Given the description of an element on the screen output the (x, y) to click on. 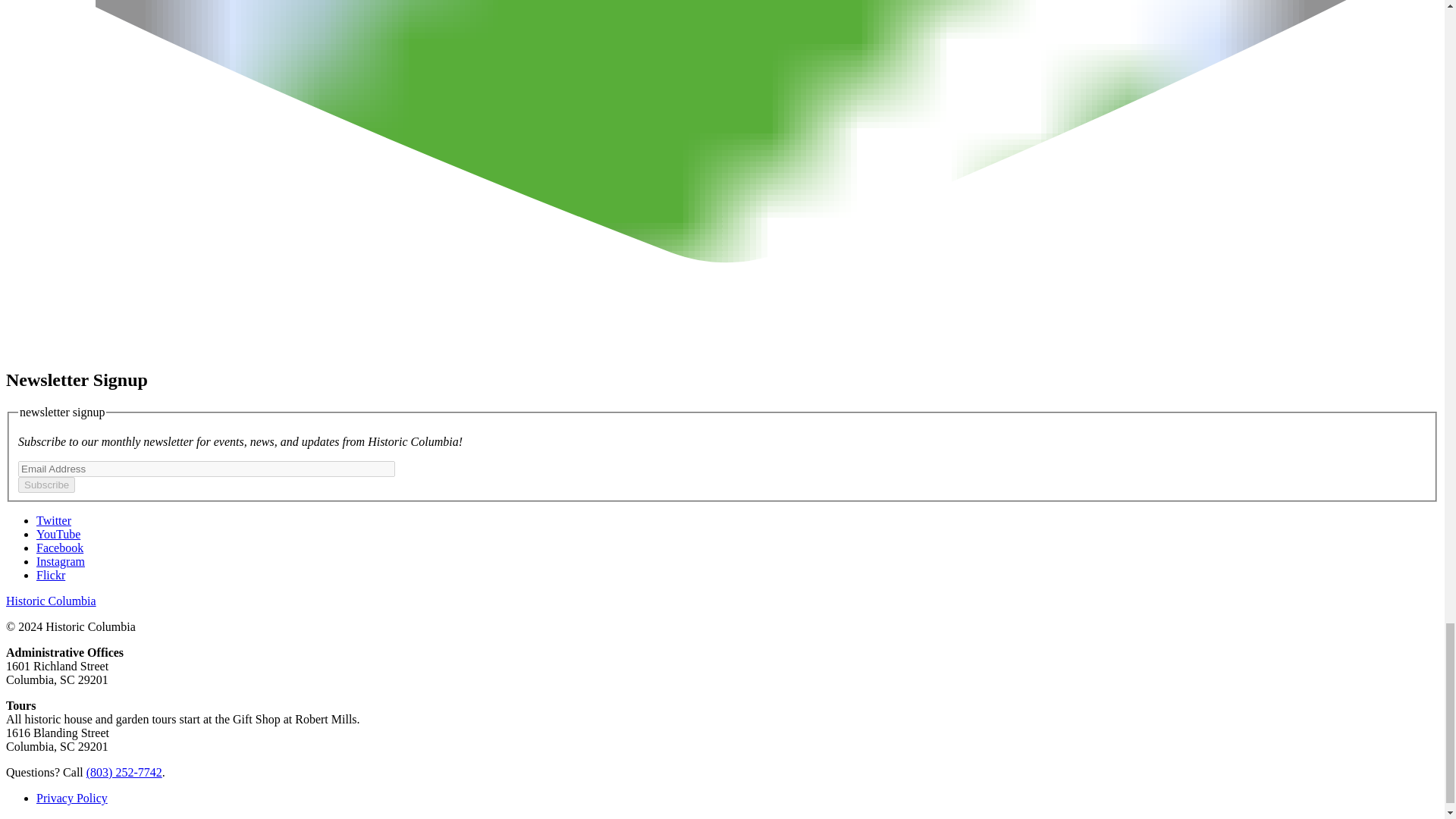
Subscribe (46, 484)
